Given the description of an element on the screen output the (x, y) to click on. 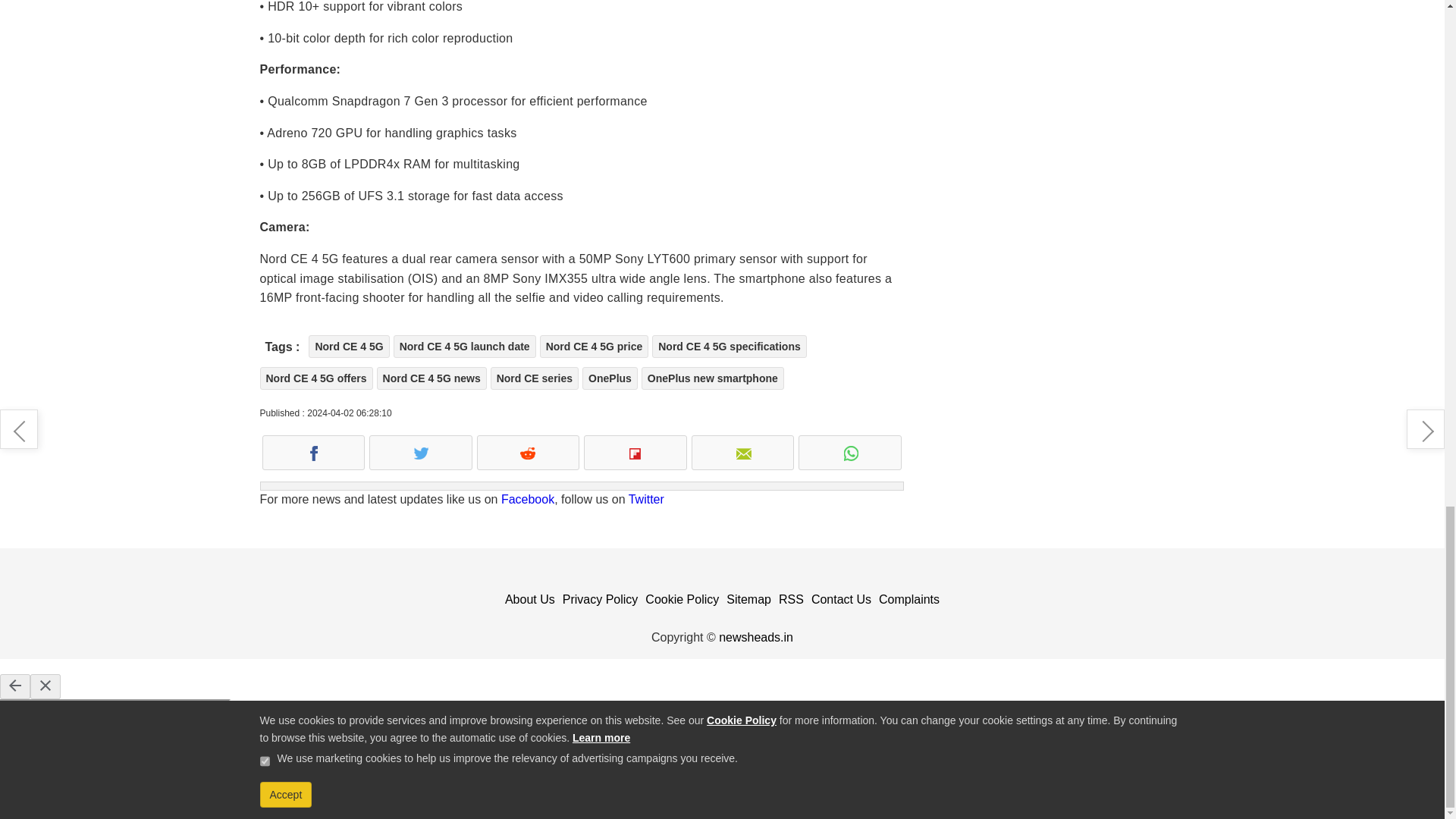
Nord CE 4 5G launch date (464, 345)
Nord CE 4 5G (348, 345)
Nord CE 4 5G price (594, 345)
Nord CE 4 5G specifications (729, 345)
